Given the description of an element on the screen output the (x, y) to click on. 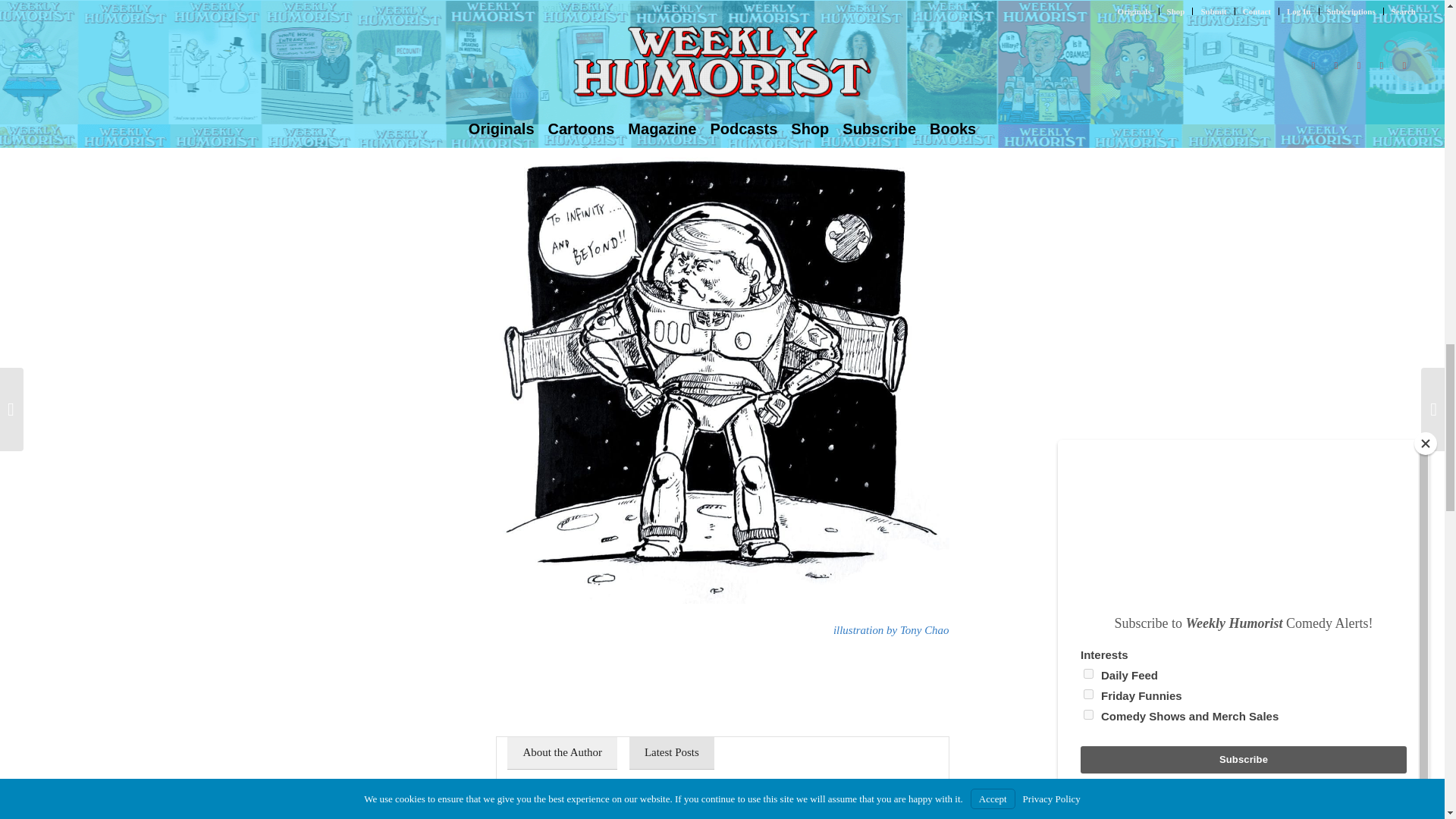
illustration by Tony Chao (890, 630)
Reese Cassard (665, 810)
